Given the description of an element on the screen output the (x, y) to click on. 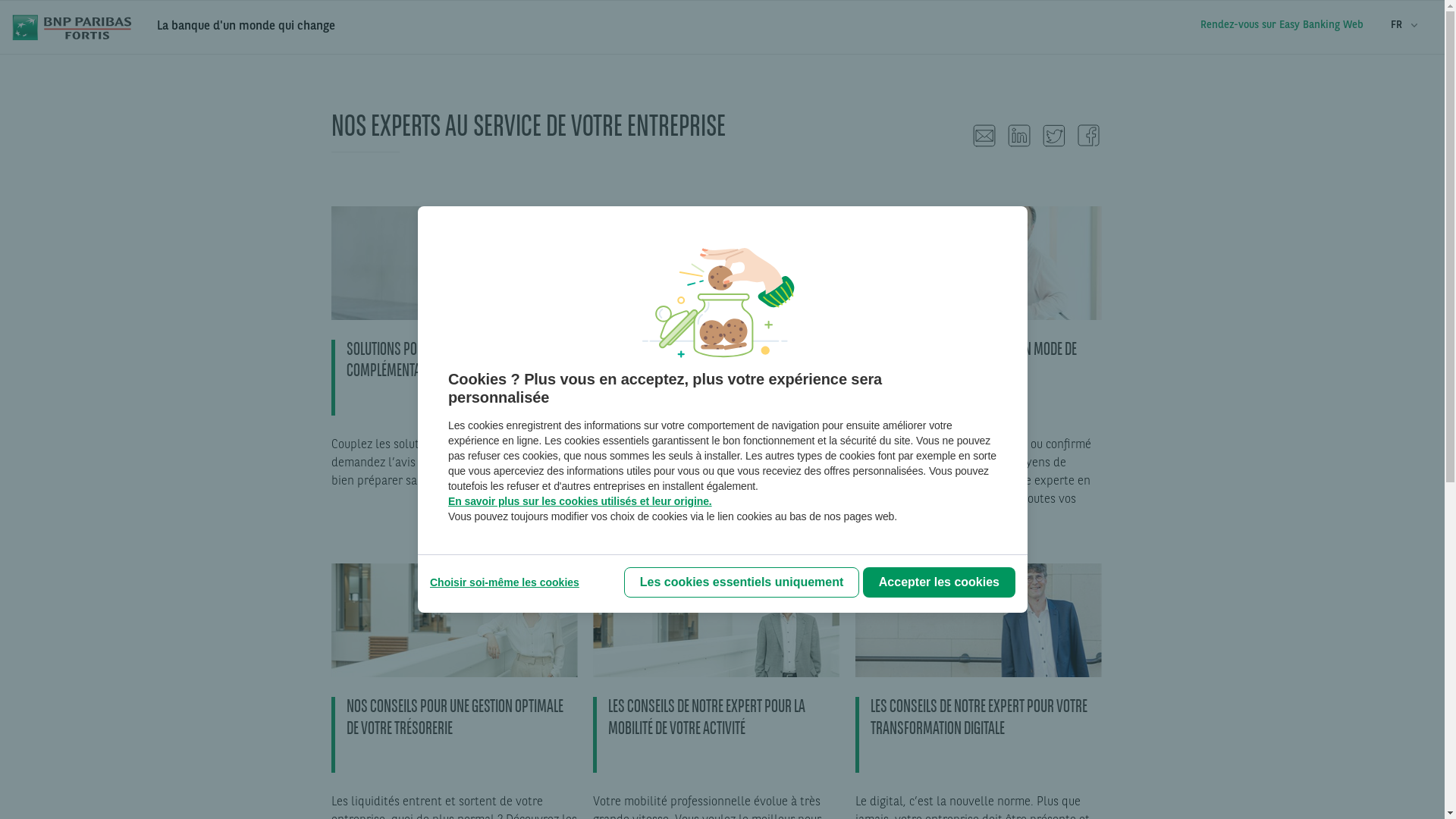
NOS CONSEILS POUR CHOISIR UN MODE DE PAIEMENT Element type: text (982, 382)
Tell a friend Element type: hover (983, 135)
Rendez-vous sur Easy Banking Web Element type: text (1281, 24)
